Given the description of an element on the screen output the (x, y) to click on. 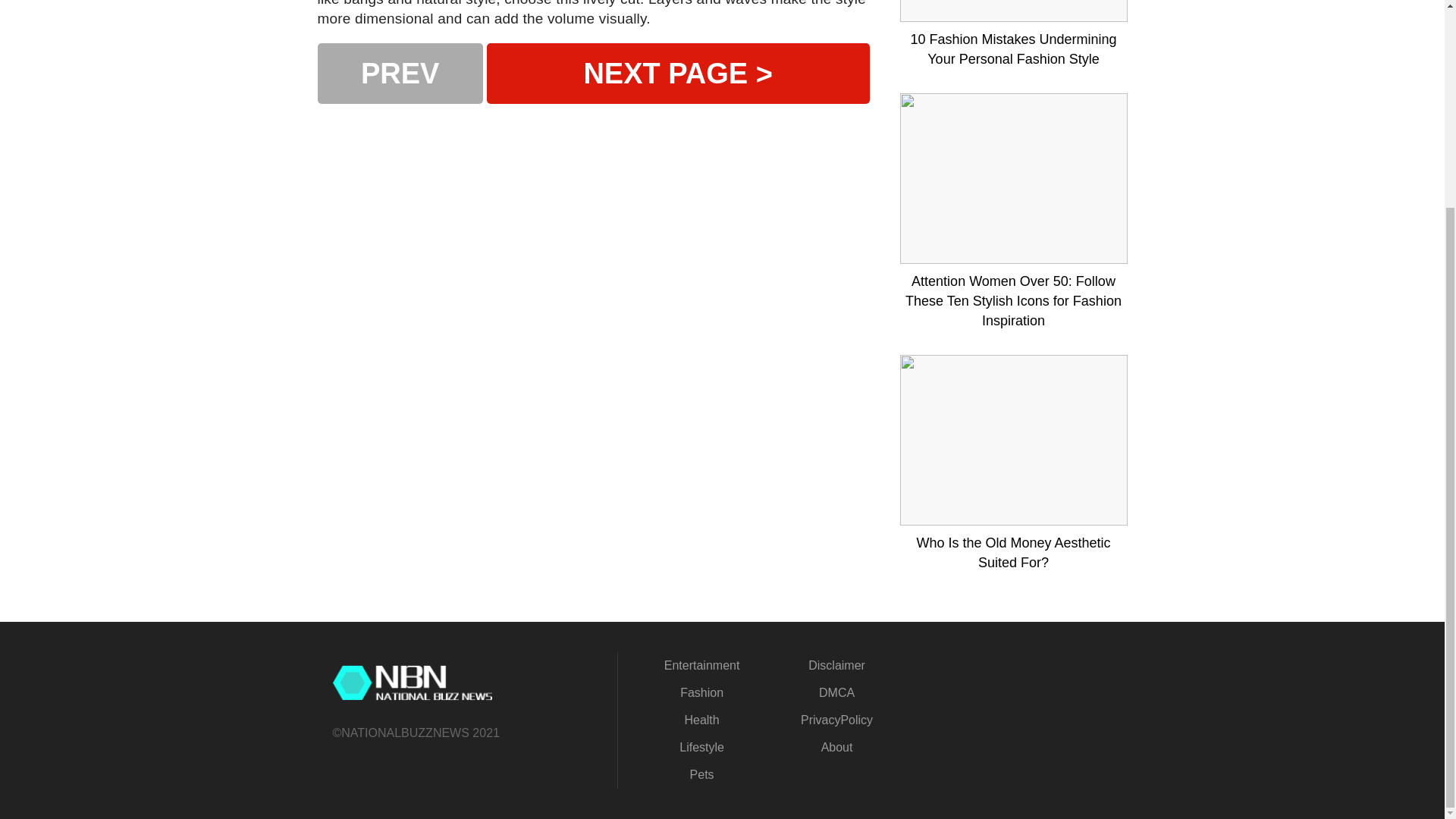
Pets (702, 774)
Who Is the Old Money Aesthetic Suited For? (1012, 552)
Disclaimer (836, 665)
Fashion (701, 692)
About (837, 747)
PrivacyPolicy (836, 719)
Lifestyle (701, 747)
DMCA (836, 692)
Entertainment (701, 665)
Health (701, 719)
PREV (399, 73)
10 Fashion Mistakes Undermining Your Personal Fashion Style (1012, 48)
